Given the description of an element on the screen output the (x, y) to click on. 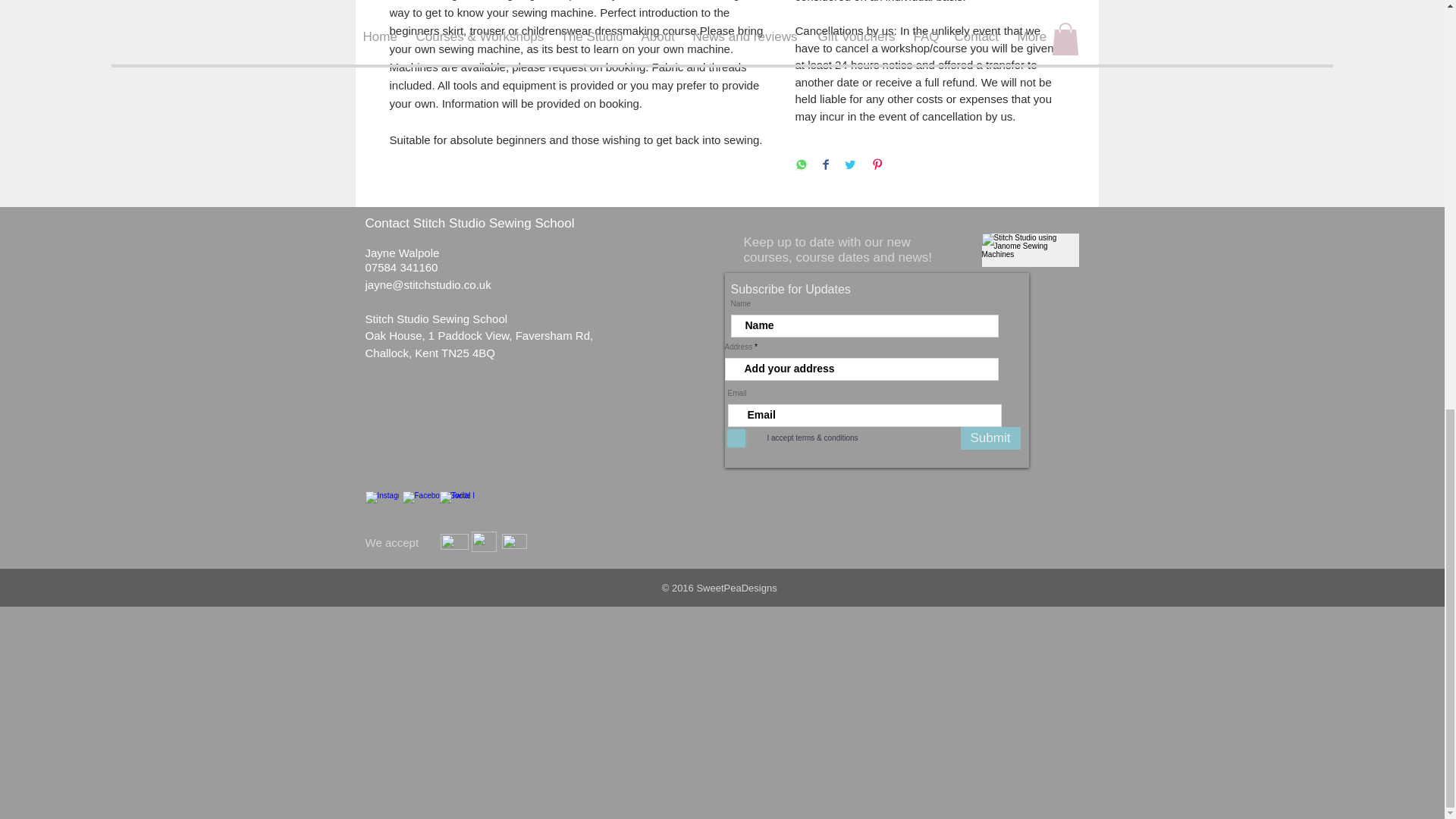
Submit (989, 437)
Working together with Janome - Red Block.jpg (1029, 249)
